Given the description of an element on the screen output the (x, y) to click on. 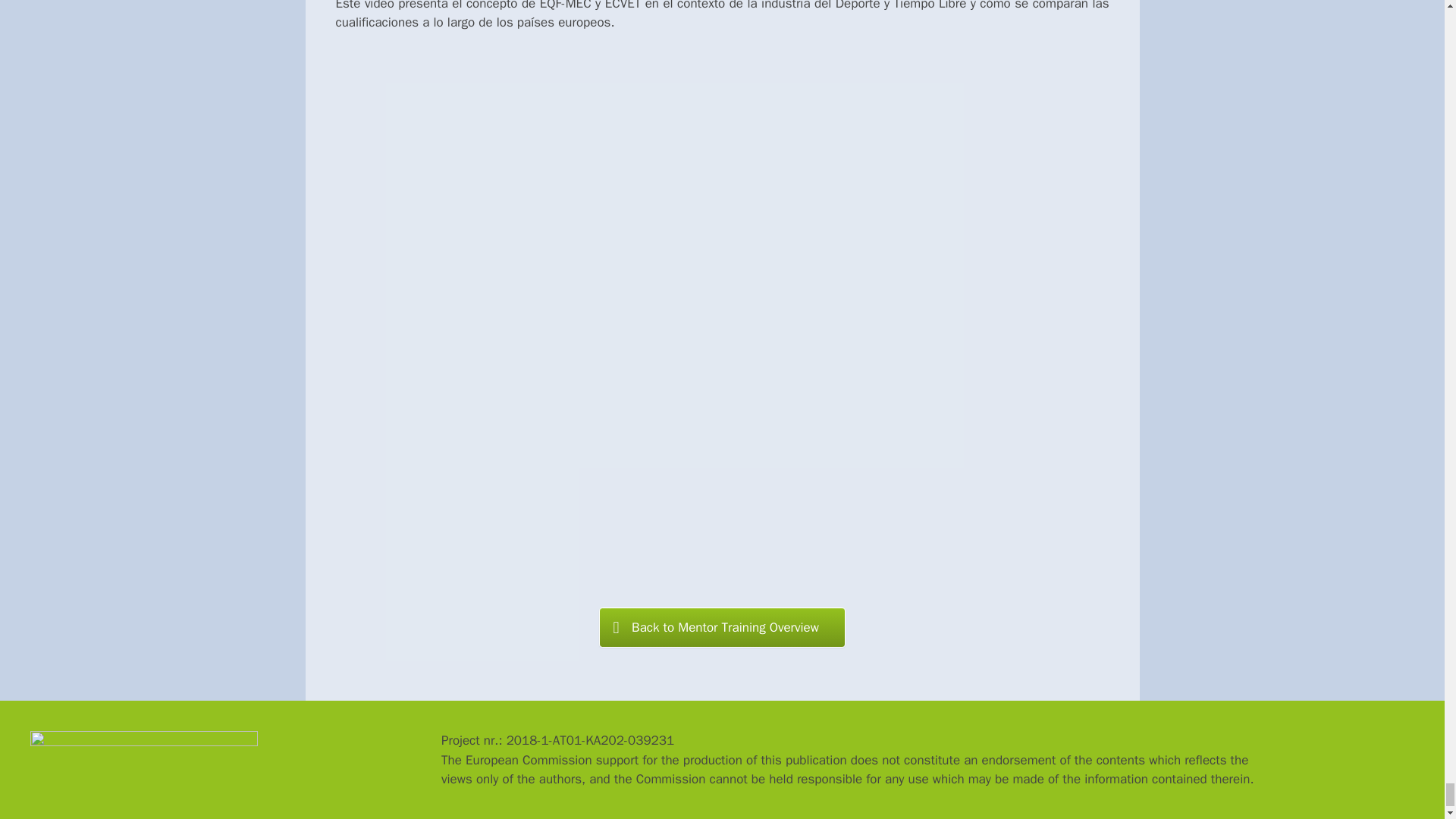
Back to Mentor Training Overview (721, 627)
